Given the description of an element on the screen output the (x, y) to click on. 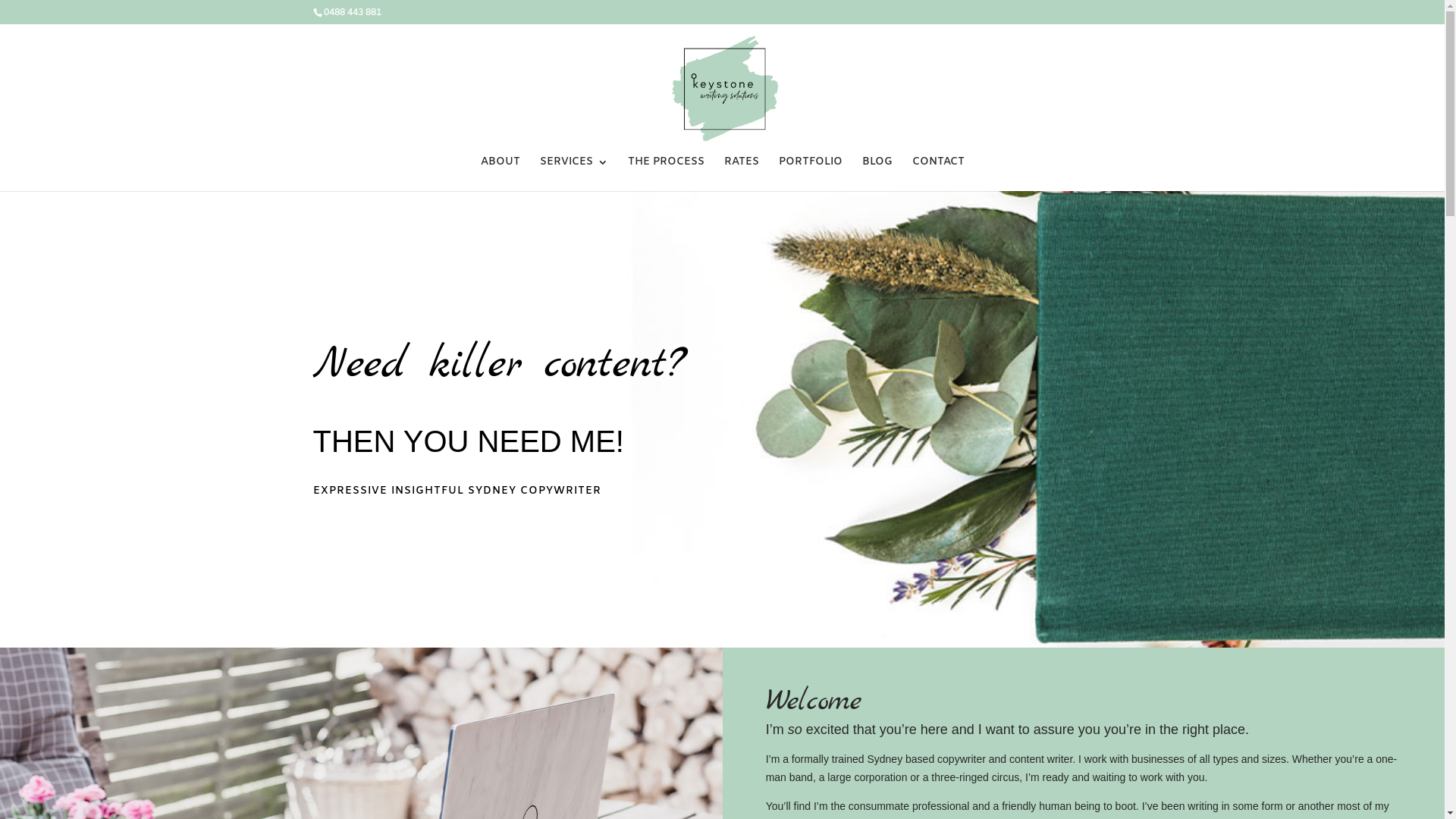
ABOUT Element type: text (500, 173)
RATES Element type: text (740, 173)
BLOG Element type: text (876, 173)
CONTACT Element type: text (937, 173)
SERVICES Element type: text (573, 173)
PORTFOLIO Element type: text (809, 173)
THE PROCESS Element type: text (665, 173)
